Given the description of an element on the screen output the (x, y) to click on. 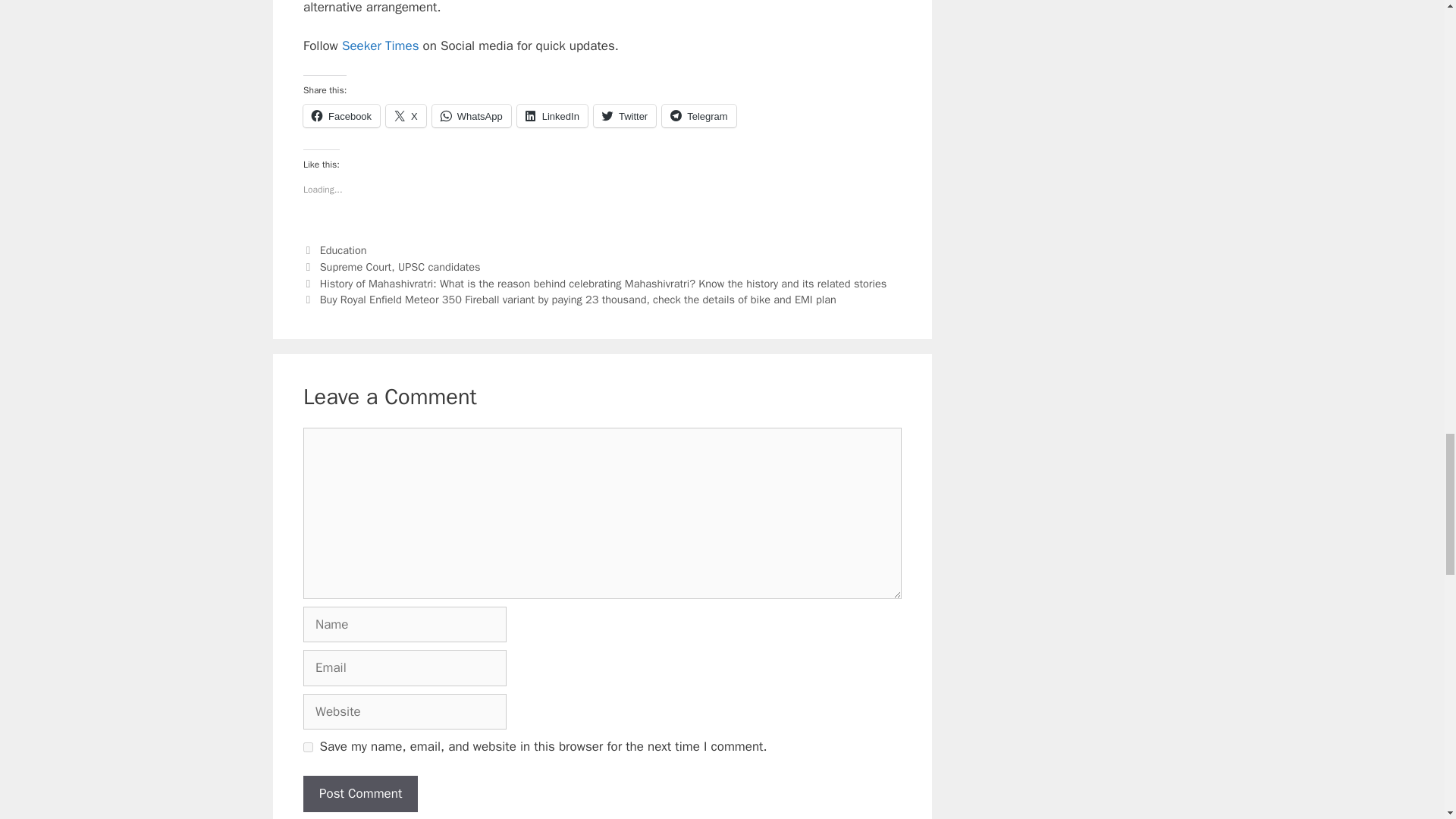
Click to share on WhatsApp (471, 115)
Post Comment (359, 793)
LinkedIn (552, 115)
Click to share on Twitter (625, 115)
Click to share on Facebook (341, 115)
Click to share on LinkedIn (552, 115)
Facebook (341, 115)
Click to share on X (405, 115)
yes (307, 747)
Seeker Times (380, 45)
Twitter (625, 115)
X (405, 115)
WhatsApp (471, 115)
